Given the description of an element on the screen output the (x, y) to click on. 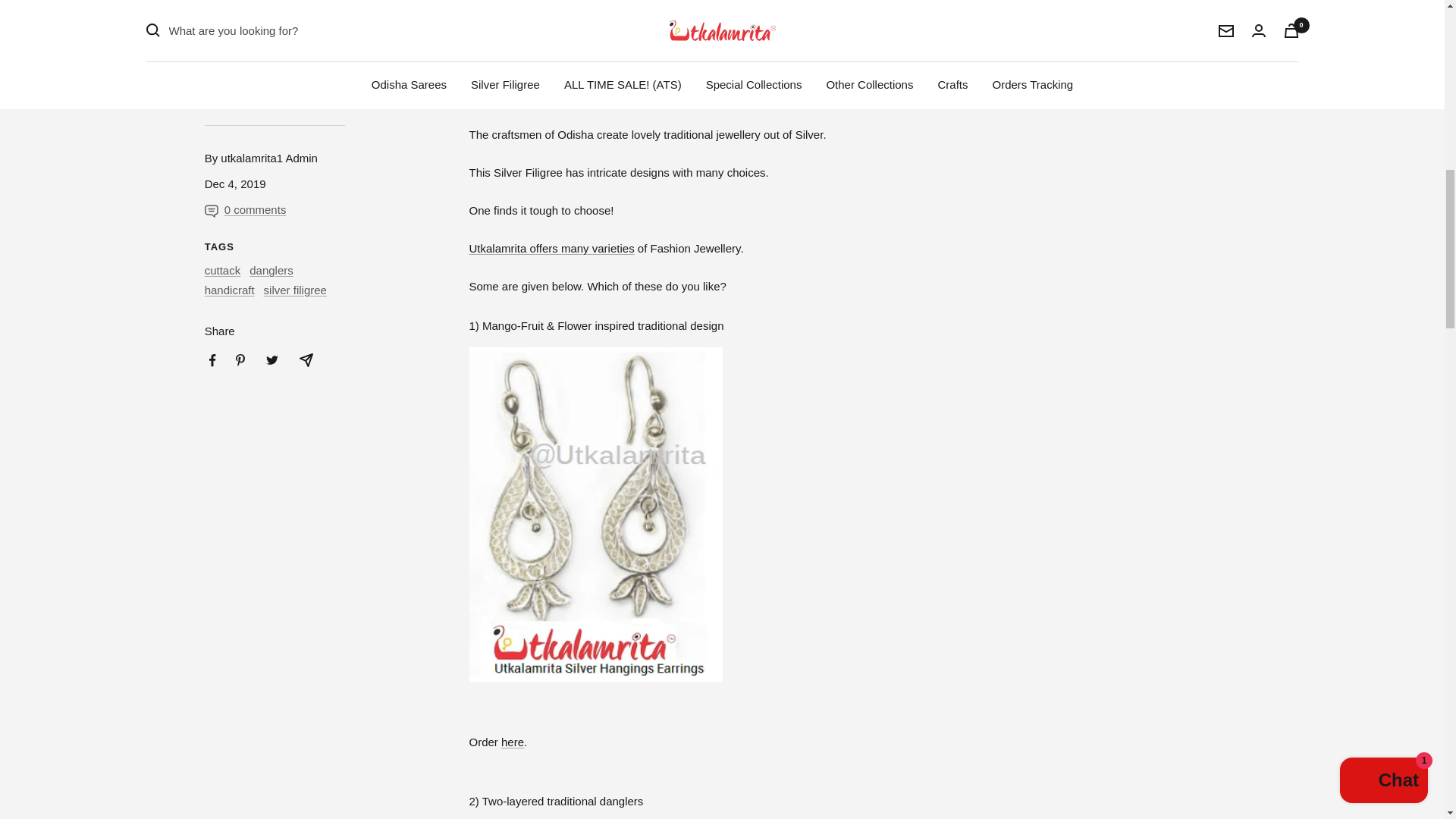
here (512, 741)
cuttack (223, 269)
0 comments (261, 209)
silver filigree (294, 289)
danglers (271, 269)
Utkalamrita offers many varieties (550, 247)
handicraft (229, 289)
